Given the description of an element on the screen output the (x, y) to click on. 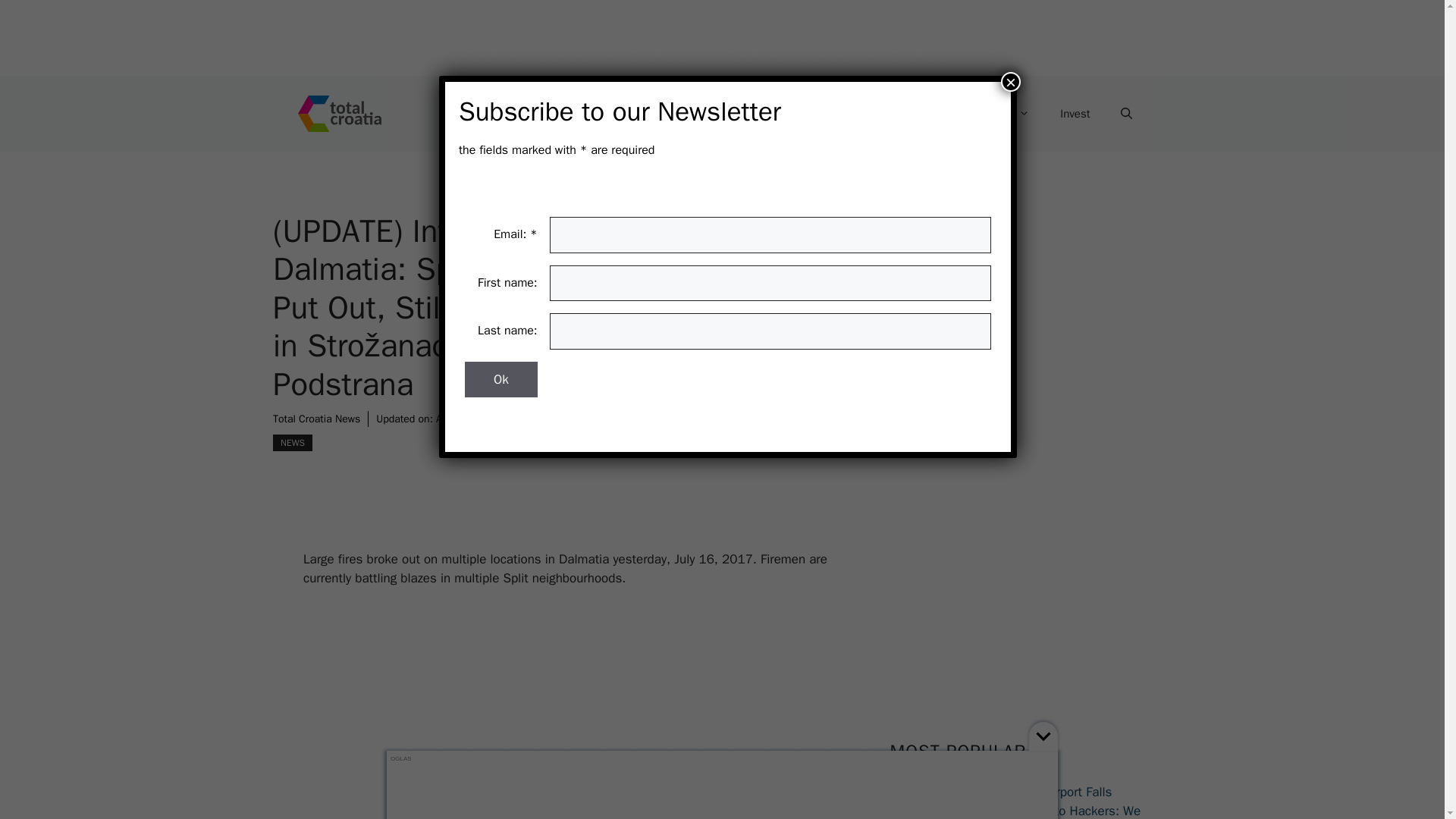
Destinations (517, 113)
3rd party ad content (727, 38)
News (733, 113)
Invest (1075, 113)
Diaspora (998, 113)
Ok (500, 379)
3rd party ad content (587, 713)
Real estate (824, 113)
How to Guides (634, 113)
Wine (914, 113)
